Given the description of an element on the screen output the (x, y) to click on. 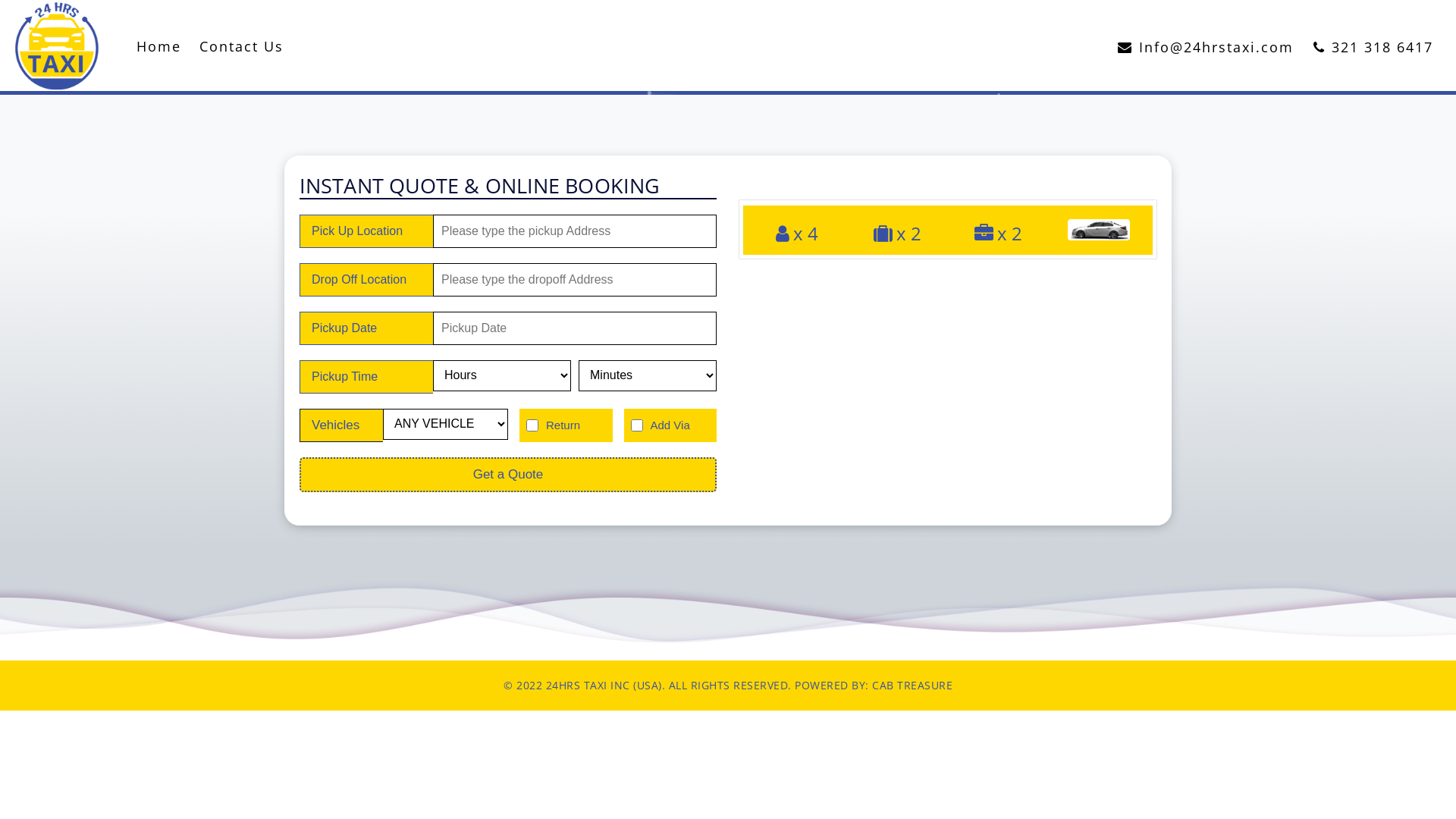
Info@24hrstaxi.com Element type: text (1205, 47)
Get a Quote Element type: text (507, 474)
Contact Us Element type: text (241, 46)
321 318 6417 Element type: text (1372, 47)
Home Element type: text (158, 46)
CAB TREASURE Element type: text (912, 684)
